Given the description of an element on the screen output the (x, y) to click on. 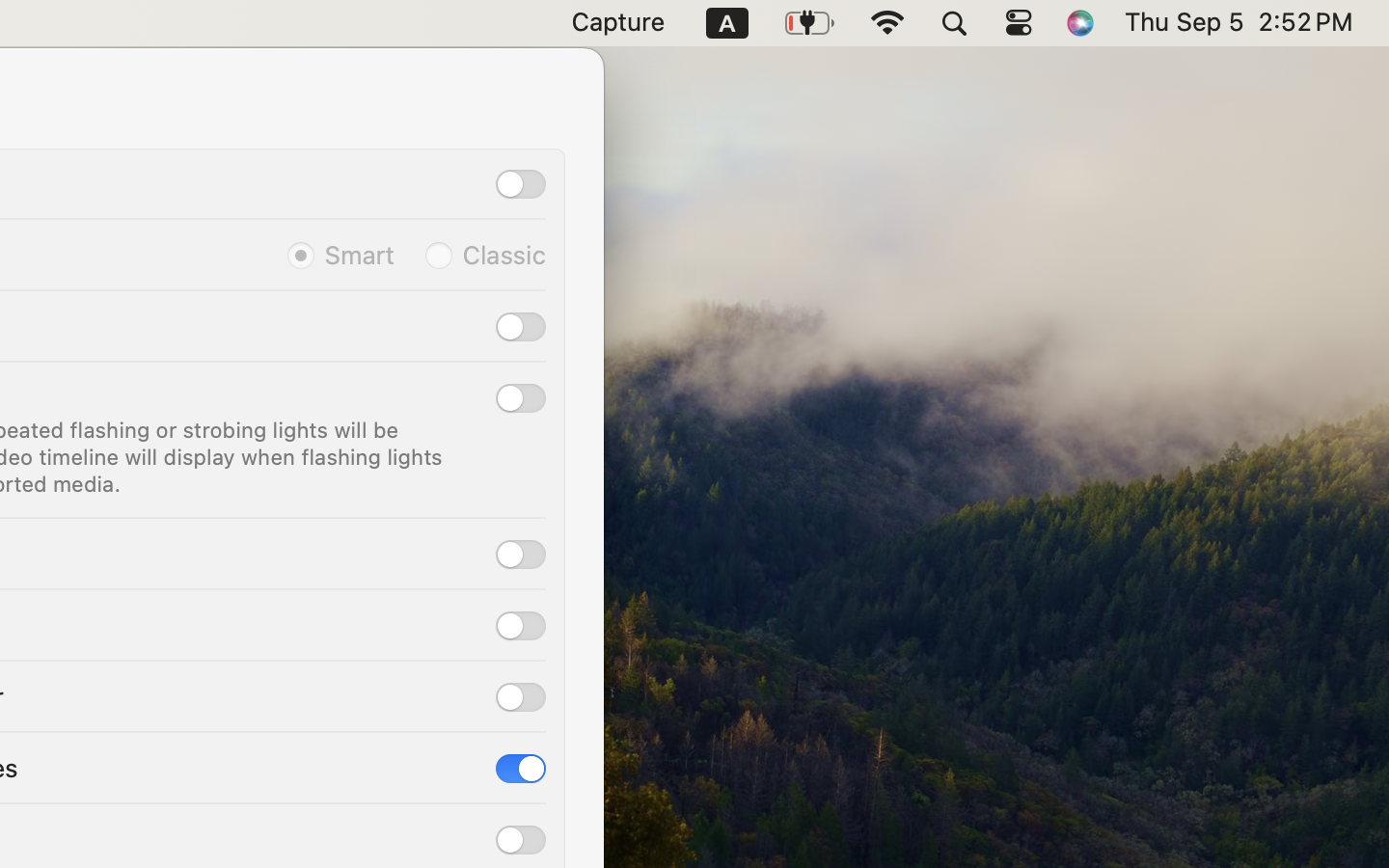
1 Element type: AXCheckBox (520, 768)
1 Element type: AXRadioButton (340, 254)
